Given the description of an element on the screen output the (x, y) to click on. 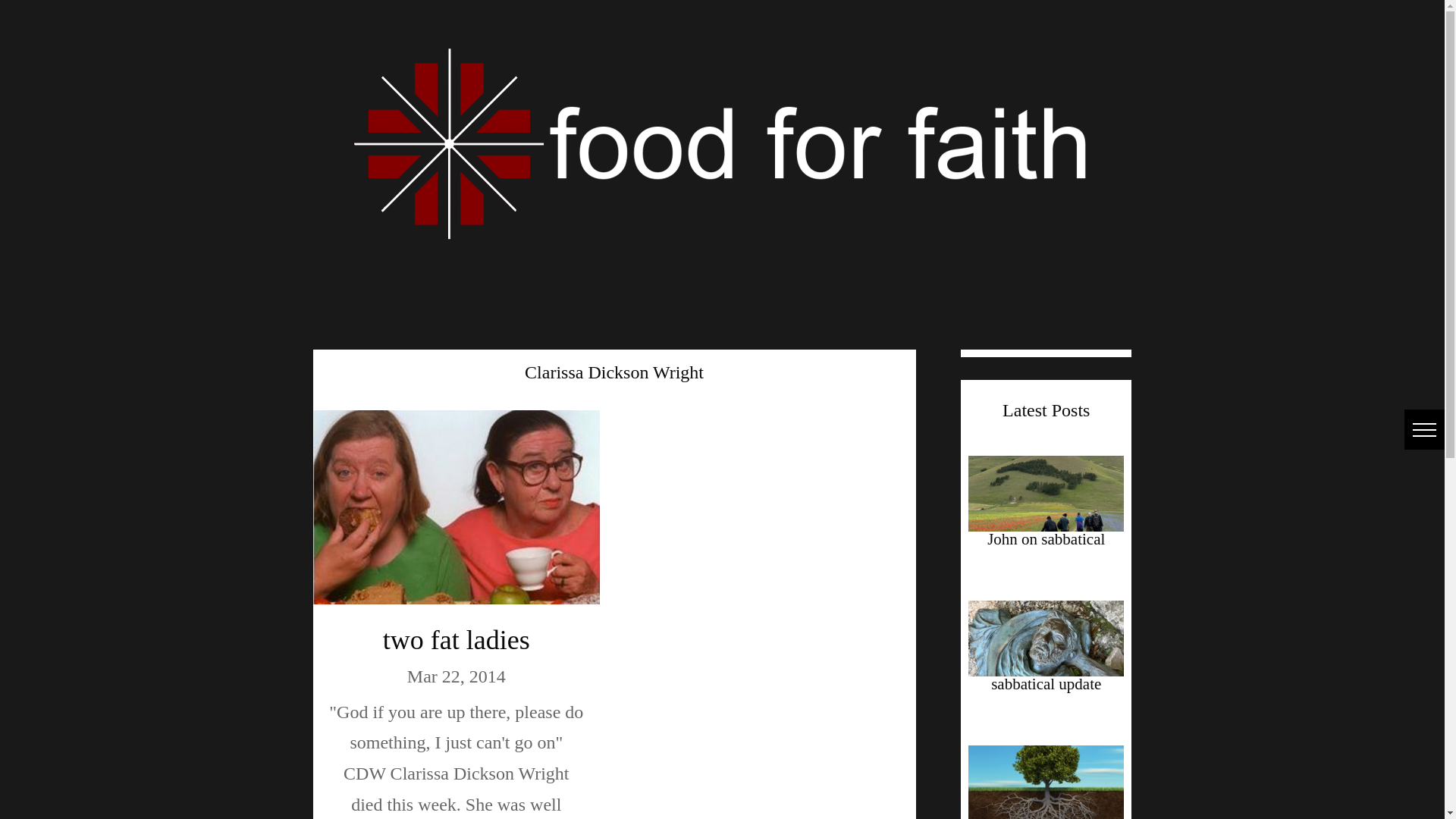
sabbatical update (1045, 683)
two fat ladies (455, 639)
Search (32, 11)
John on sabbatical (1046, 538)
